Given the description of an element on the screen output the (x, y) to click on. 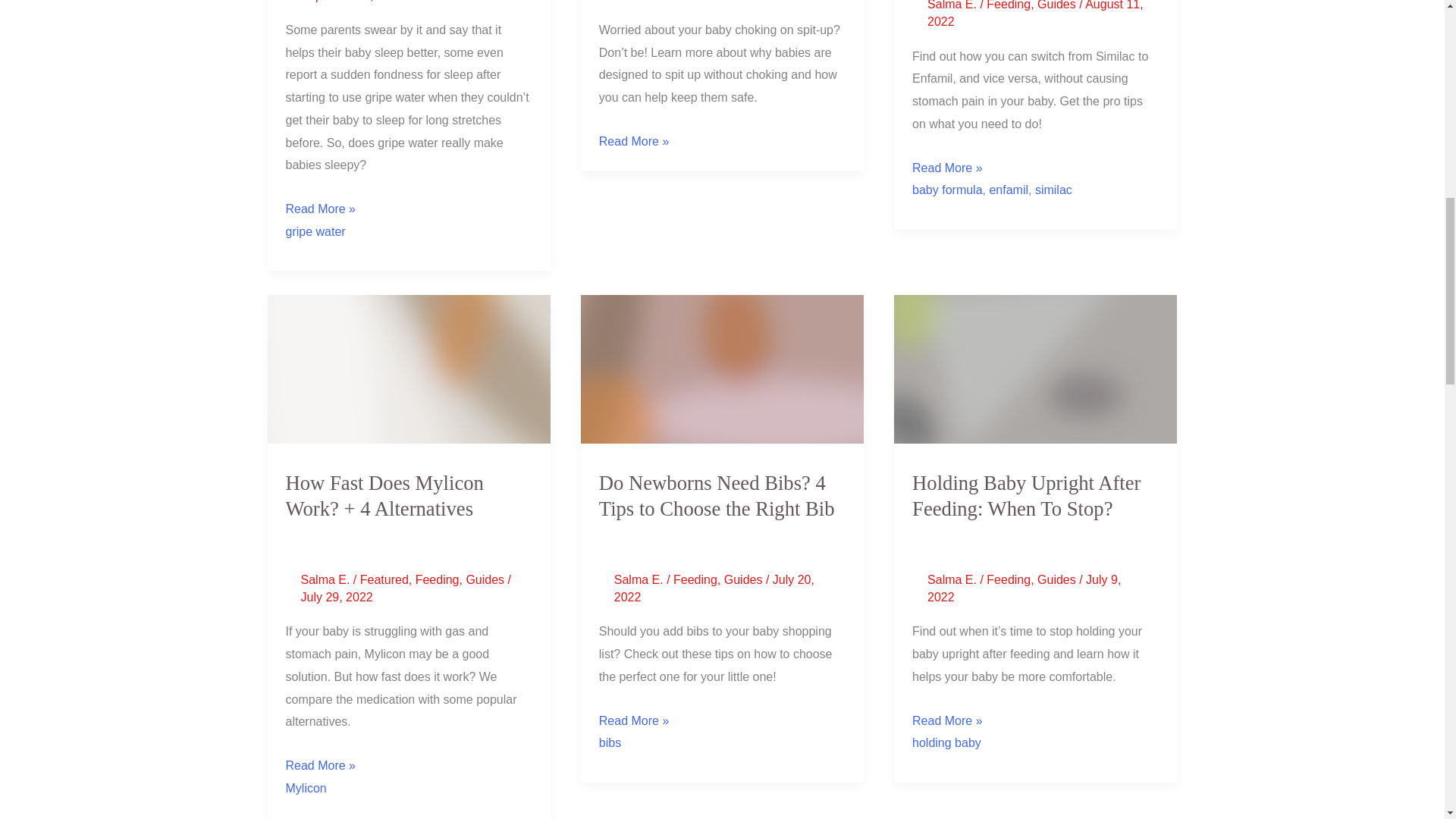
View all posts by Salma E. (640, 579)
View all posts by Salma E. (953, 579)
View all posts by Salma E. (325, 579)
View all posts by Salma E. (953, 5)
